Given the description of an element on the screen output the (x, y) to click on. 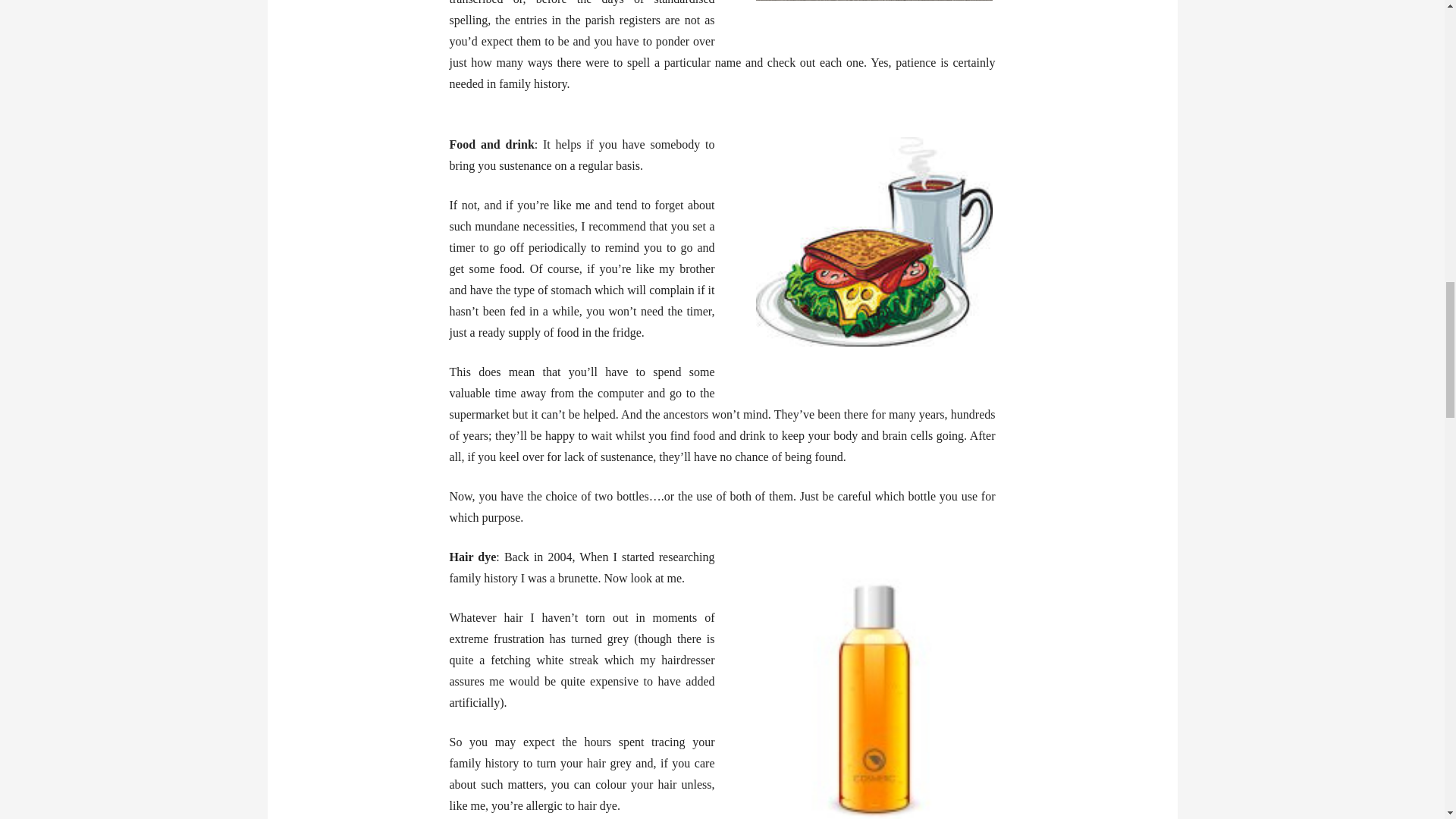
hair-dye-blank1 (873, 683)
patience-is-a-virtue-crop (873, 2)
coffee-sandwich (873, 241)
